Given the description of an element on the screen output the (x, y) to click on. 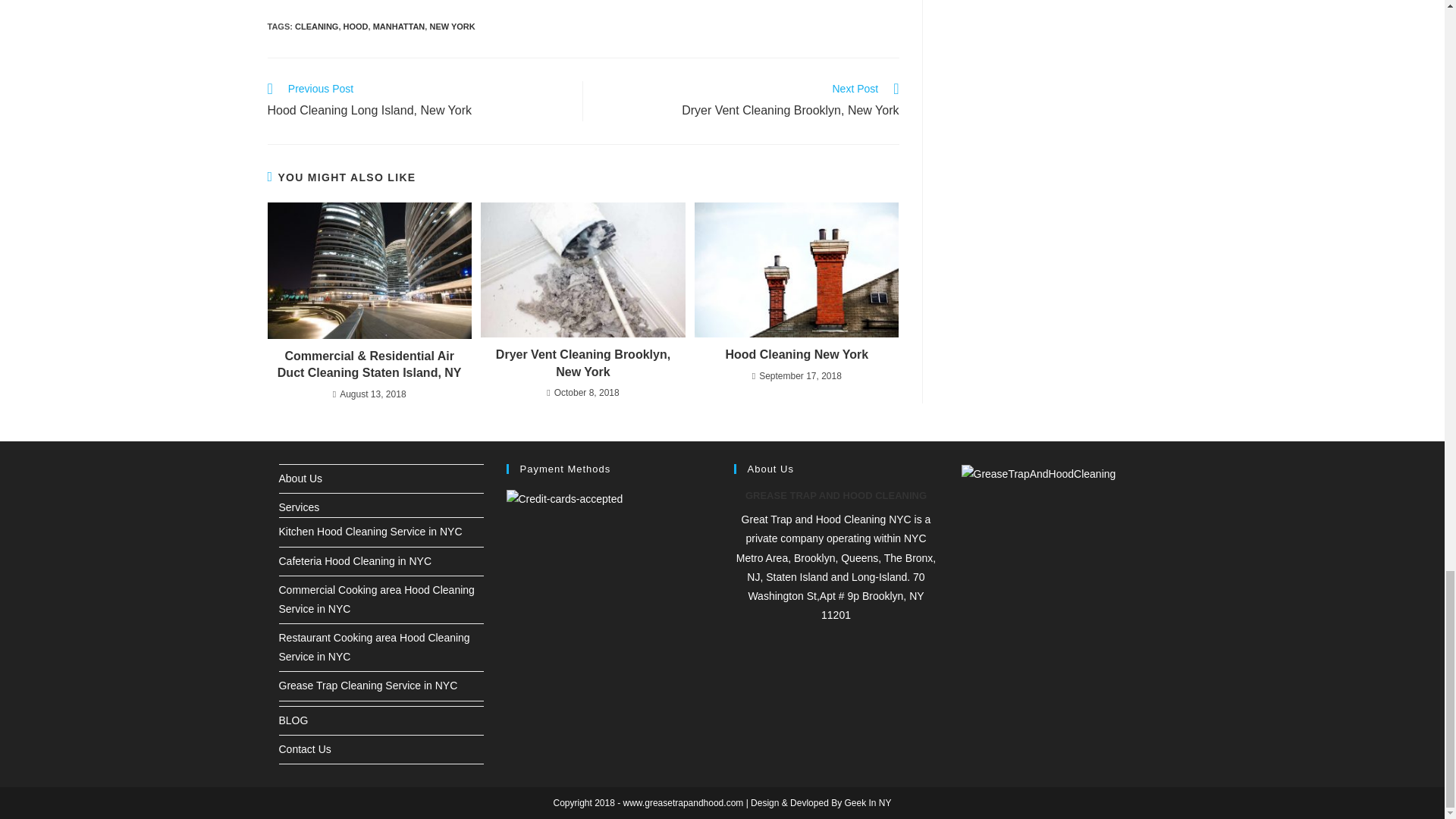
NEW YORK (451, 26)
CLEANING (316, 26)
HOOD (355, 26)
MANHATTAN (398, 26)
Hood Cleaning New York (416, 101)
Dryer Vent Cleaning Brooklyn, New York (748, 101)
